Given the description of an element on the screen output the (x, y) to click on. 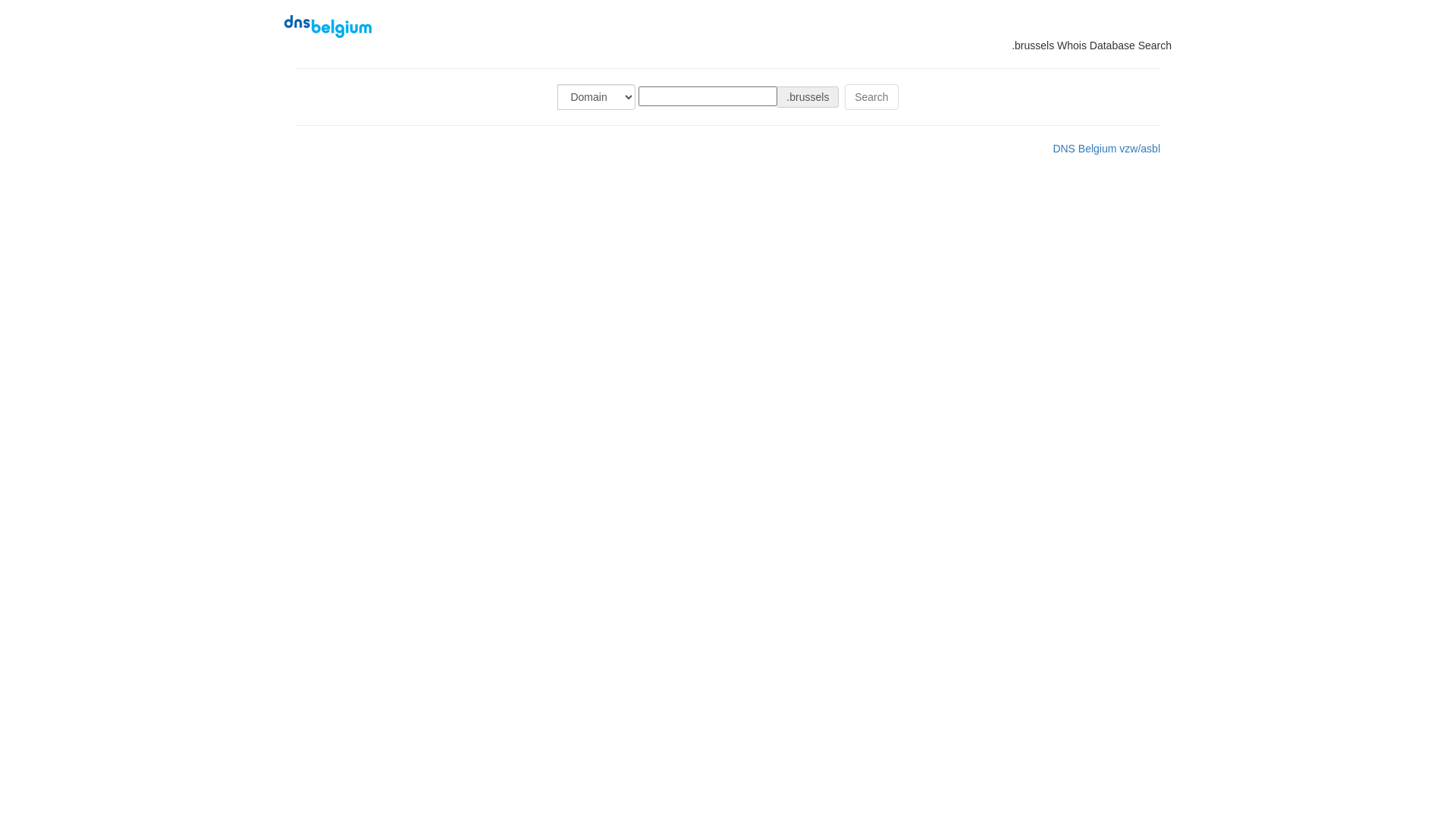
DNS Belgium vzw/asbl Element type: text (1106, 148)
Search Element type: text (870, 96)
